Given the description of an element on the screen output the (x, y) to click on. 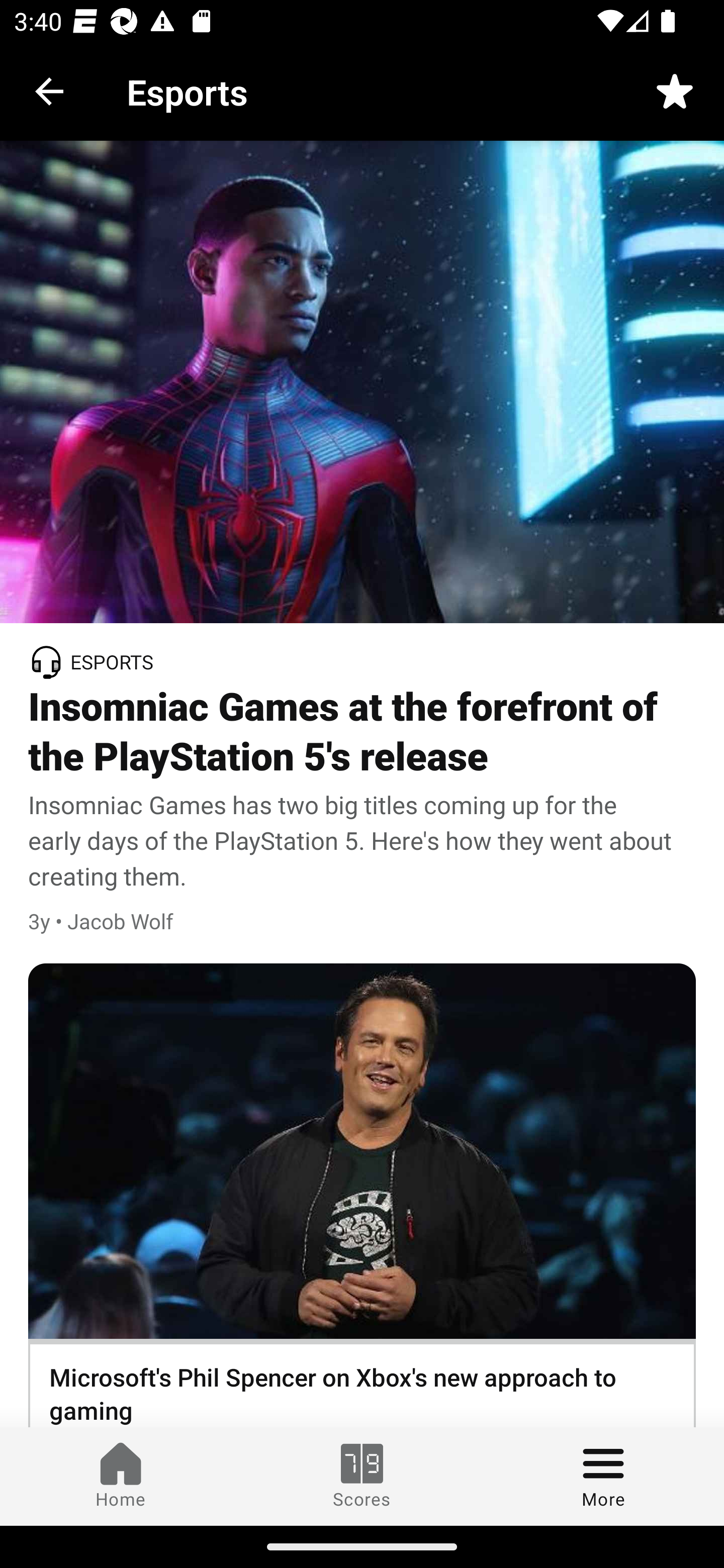
back.button (49, 90)
Favorite toggle (674, 90)
Home (120, 1475)
Scores (361, 1475)
